Given the description of an element on the screen output the (x, y) to click on. 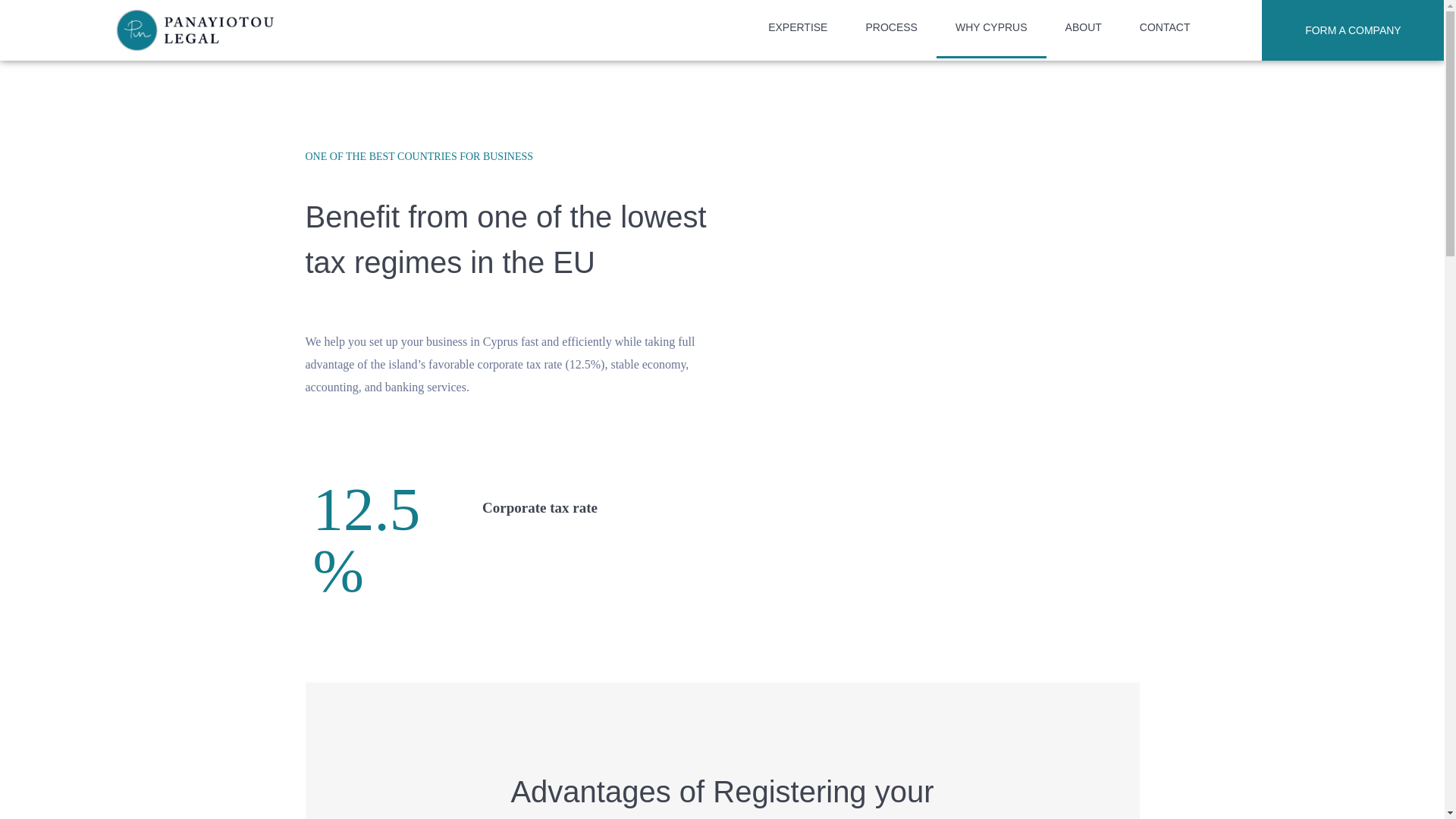
PROCESS (890, 30)
CONTACT (1165, 30)
WHY CYPRUS (991, 30)
EXPERTISE (797, 30)
FORM A COMPANY (1353, 30)
ABOUT (1083, 30)
